Given the description of an element on the screen output the (x, y) to click on. 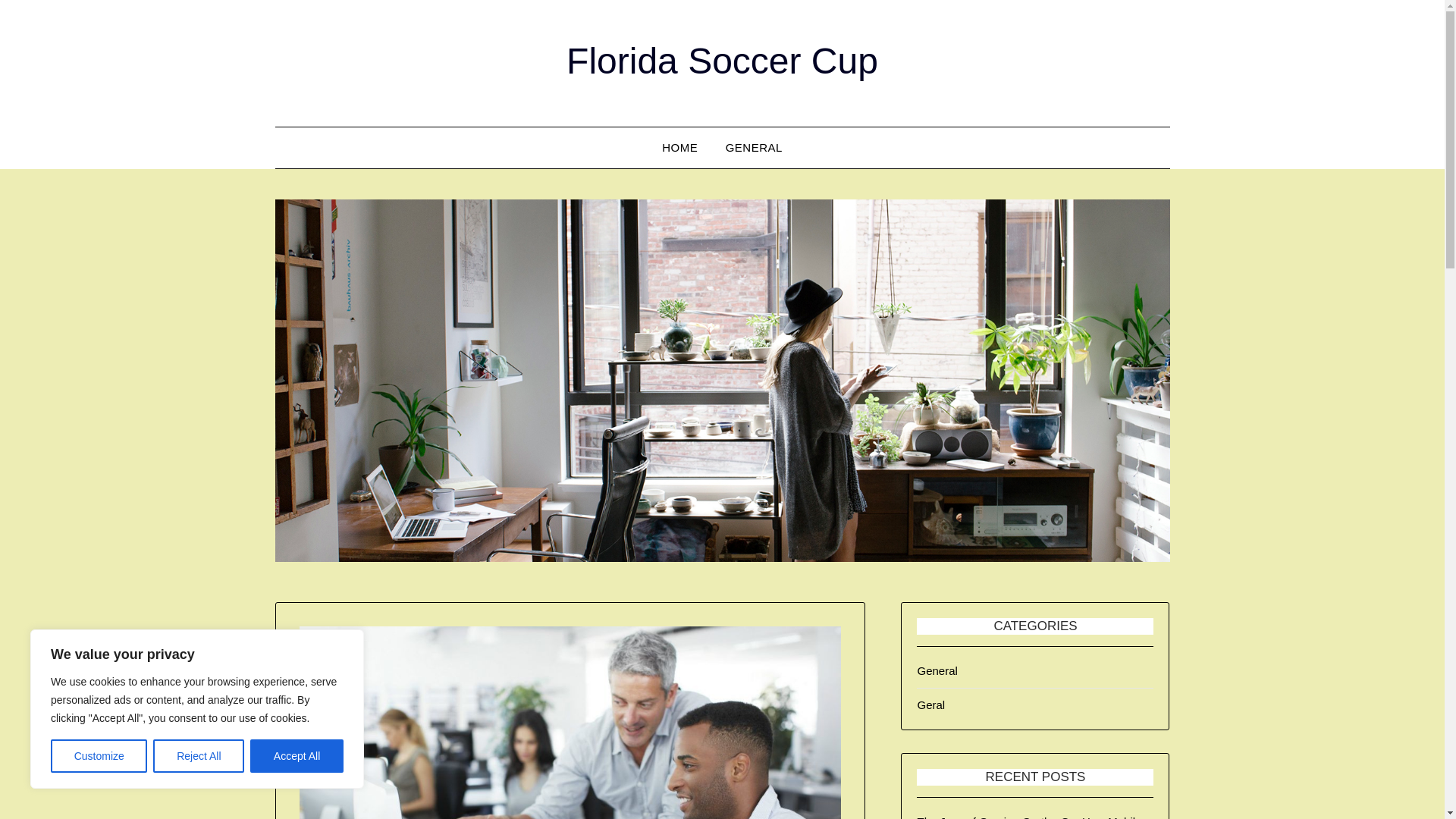
Florida Soccer Cup (721, 60)
General (936, 670)
Accept All (296, 756)
Customize (98, 756)
Geral (930, 704)
Reject All (198, 756)
GENERAL (753, 147)
HOME (679, 147)
